Given the description of an element on the screen output the (x, y) to click on. 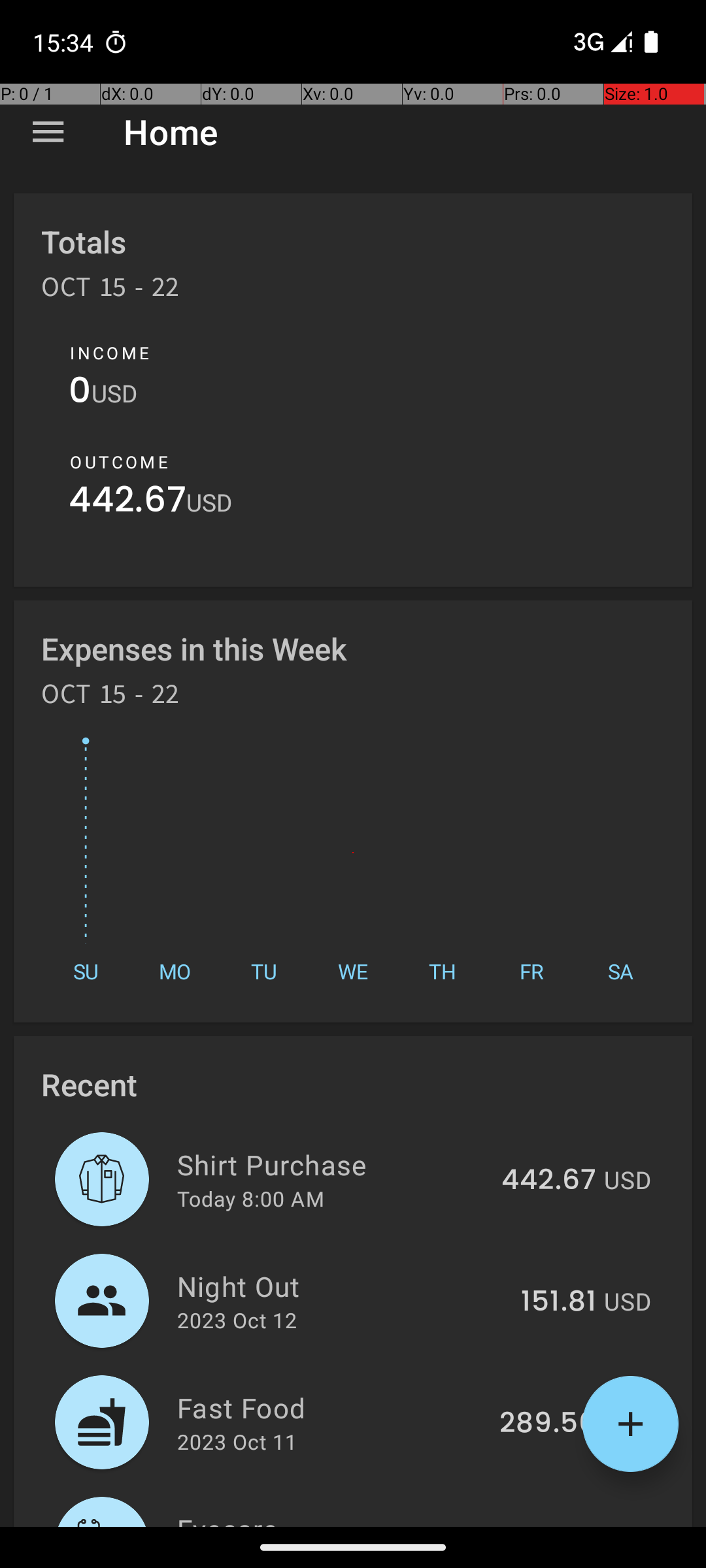
442.67 Element type: android.widget.TextView (127, 502)
Today 8:00 AM Element type: android.widget.TextView (250, 1198)
Night Out Element type: android.widget.TextView (341, 1285)
151.81 Element type: android.widget.TextView (558, 1301)
Fast Food Element type: android.widget.TextView (330, 1407)
289.56 Element type: android.widget.TextView (547, 1423)
88.17 Element type: android.widget.TextView (560, 1524)
